Given the description of an element on the screen output the (x, y) to click on. 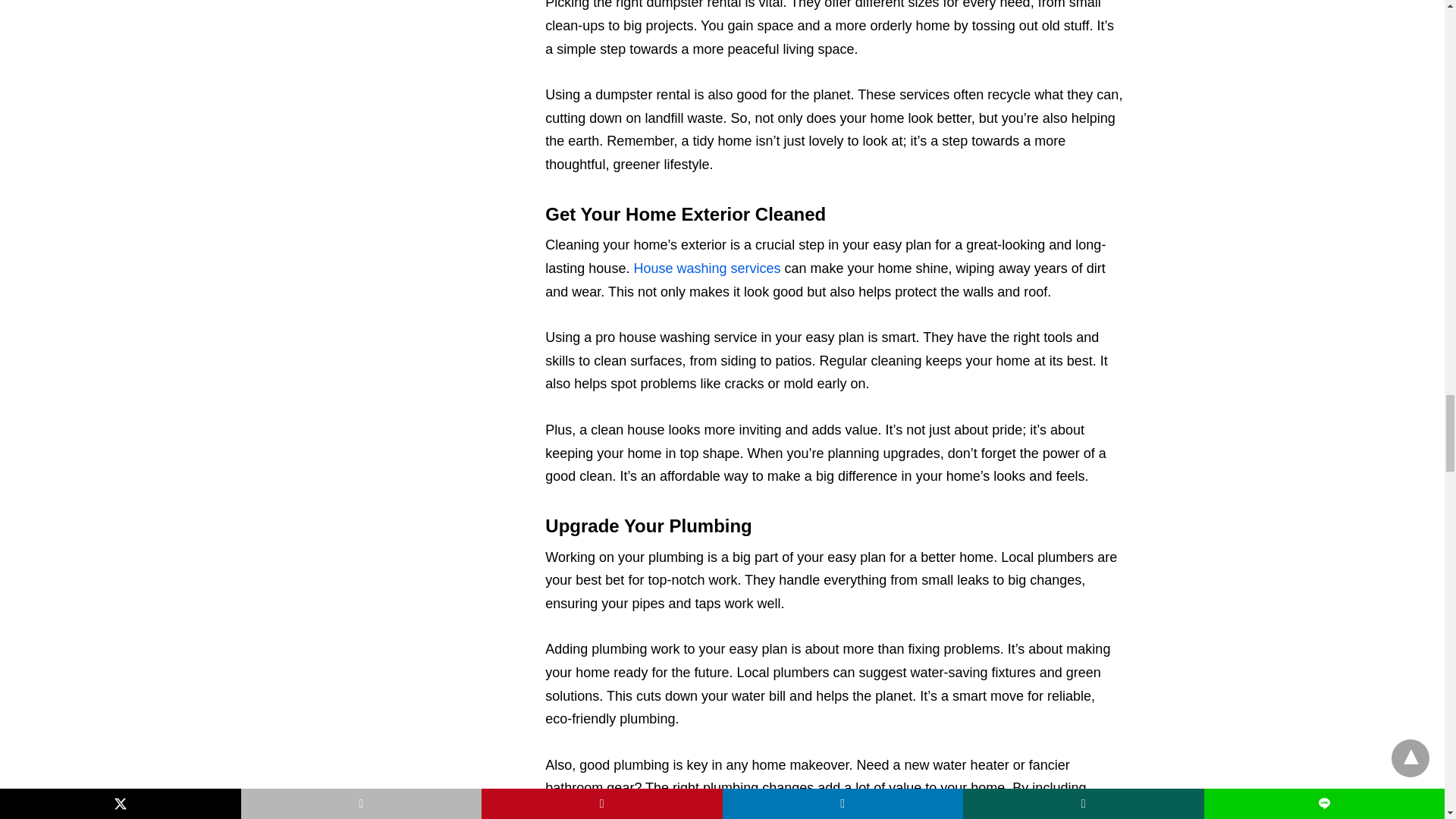
House washing services (706, 268)
